Given the description of an element on the screen output the (x, y) to click on. 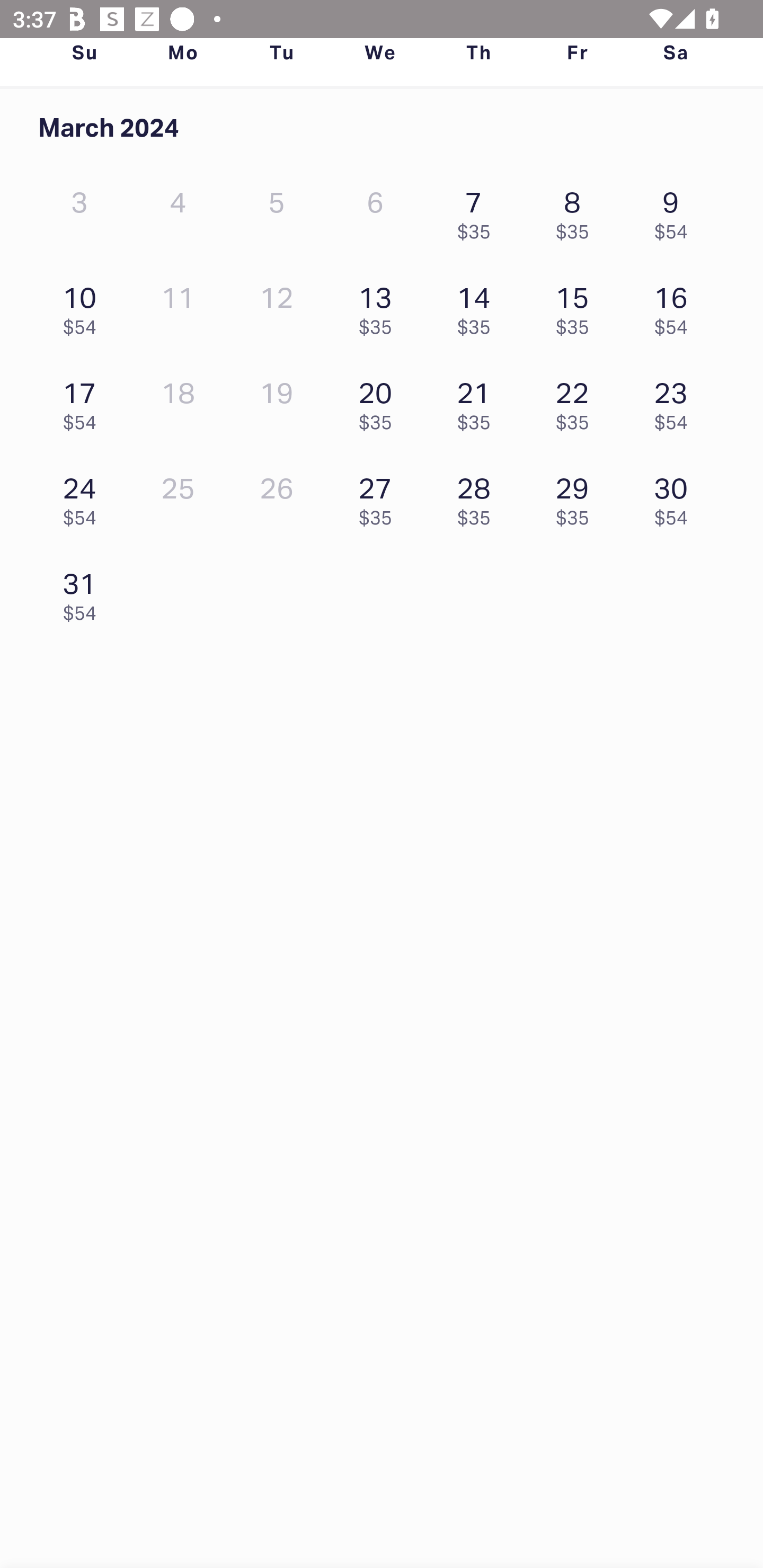
7 $35 (478, 210)
8 $35 (577, 210)
9 $54 (675, 210)
10 $54 (84, 306)
13 $35 (379, 306)
14 $35 (478, 306)
15 $35 (577, 306)
16 $54 (675, 306)
17 $54 (84, 401)
20 $35 (379, 401)
21 $35 (478, 401)
22 $35 (577, 401)
23 $54 (675, 401)
24 $54 (84, 496)
27 $35 (379, 496)
28 $35 (478, 496)
29 $35 (577, 496)
30 $54 (675, 496)
31 $54 (84, 591)
